Given the description of an element on the screen output the (x, y) to click on. 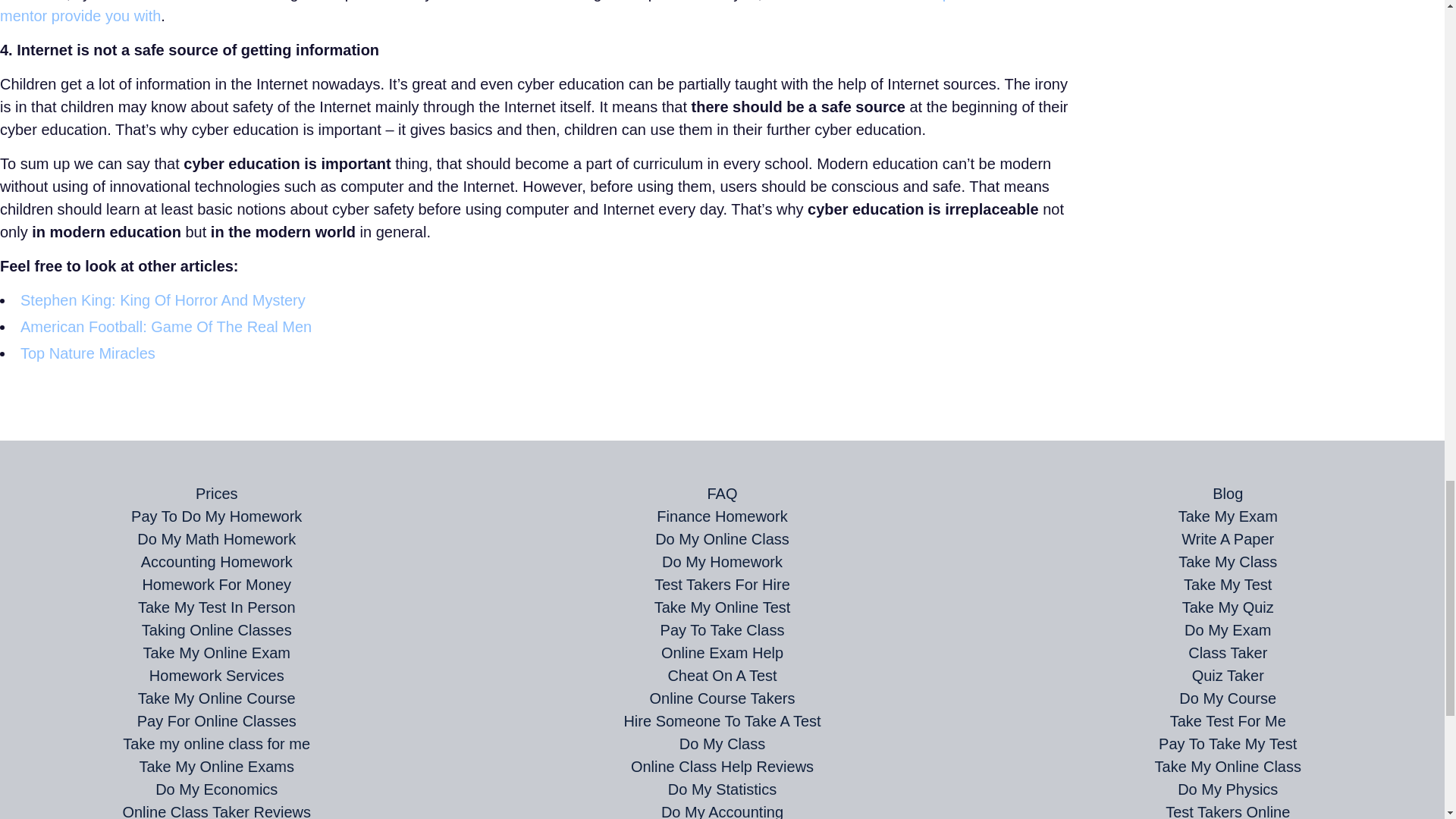
Write A Paper (1227, 538)
Blog (1227, 493)
Do My Homework (722, 561)
FAQ (721, 493)
Accounting Homework (216, 561)
what help can class mentor provide you with (508, 12)
Do My Online Class (722, 538)
Finance Homework (721, 515)
Pay To Do My Homework (216, 515)
Take My Exam (1227, 515)
